Given the description of an element on the screen output the (x, y) to click on. 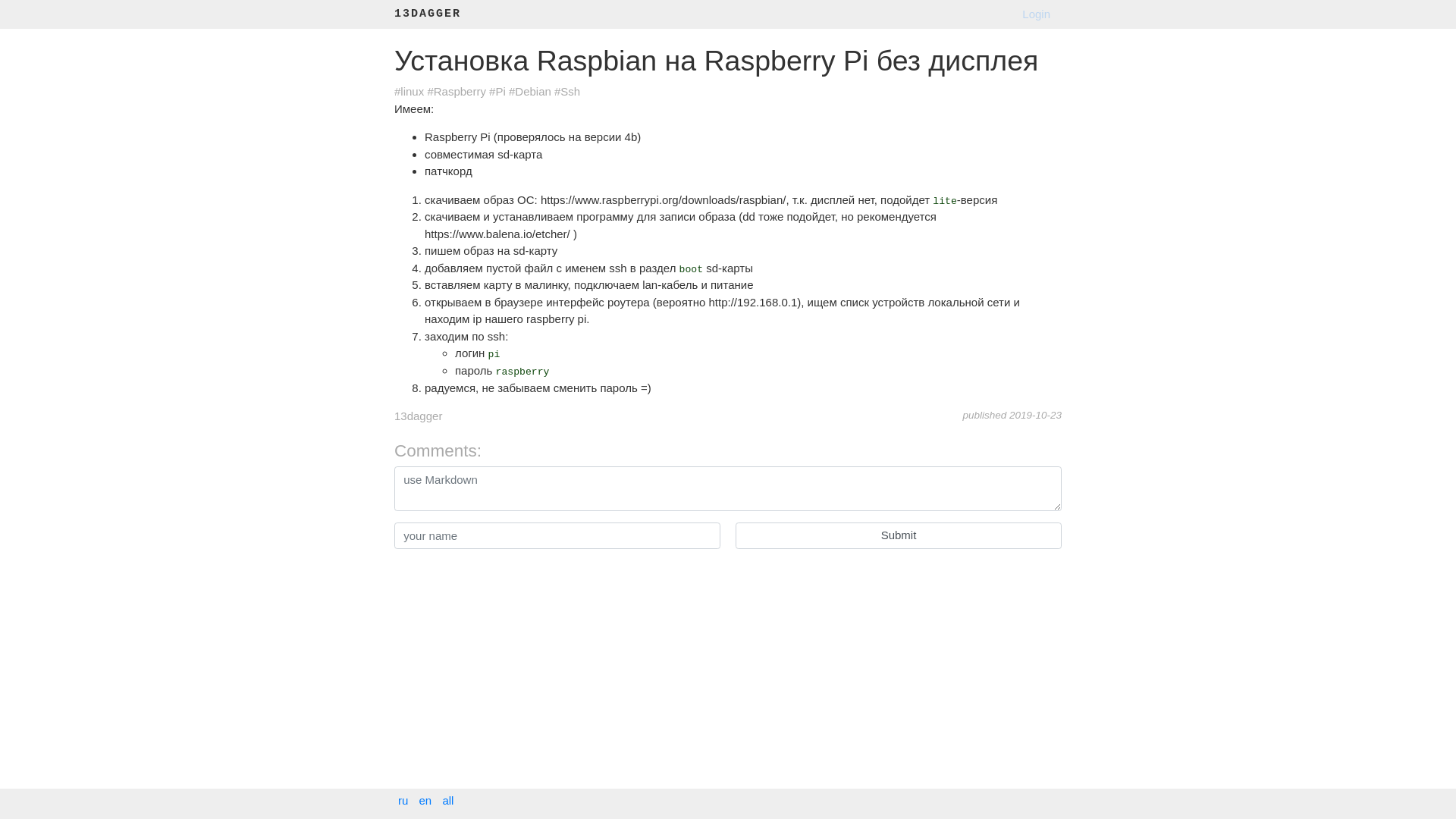
#Raspberry Element type: text (456, 90)
en Element type: text (425, 800)
#Ssh Element type: text (567, 90)
Login Element type: text (1035, 14)
13DAGGER Element type: text (427, 14)
#linux Element type: text (408, 90)
ru Element type: text (402, 800)
#Debian Element type: text (529, 90)
all Element type: text (447, 800)
#Pi Element type: text (497, 90)
